Given the description of an element on the screen output the (x, y) to click on. 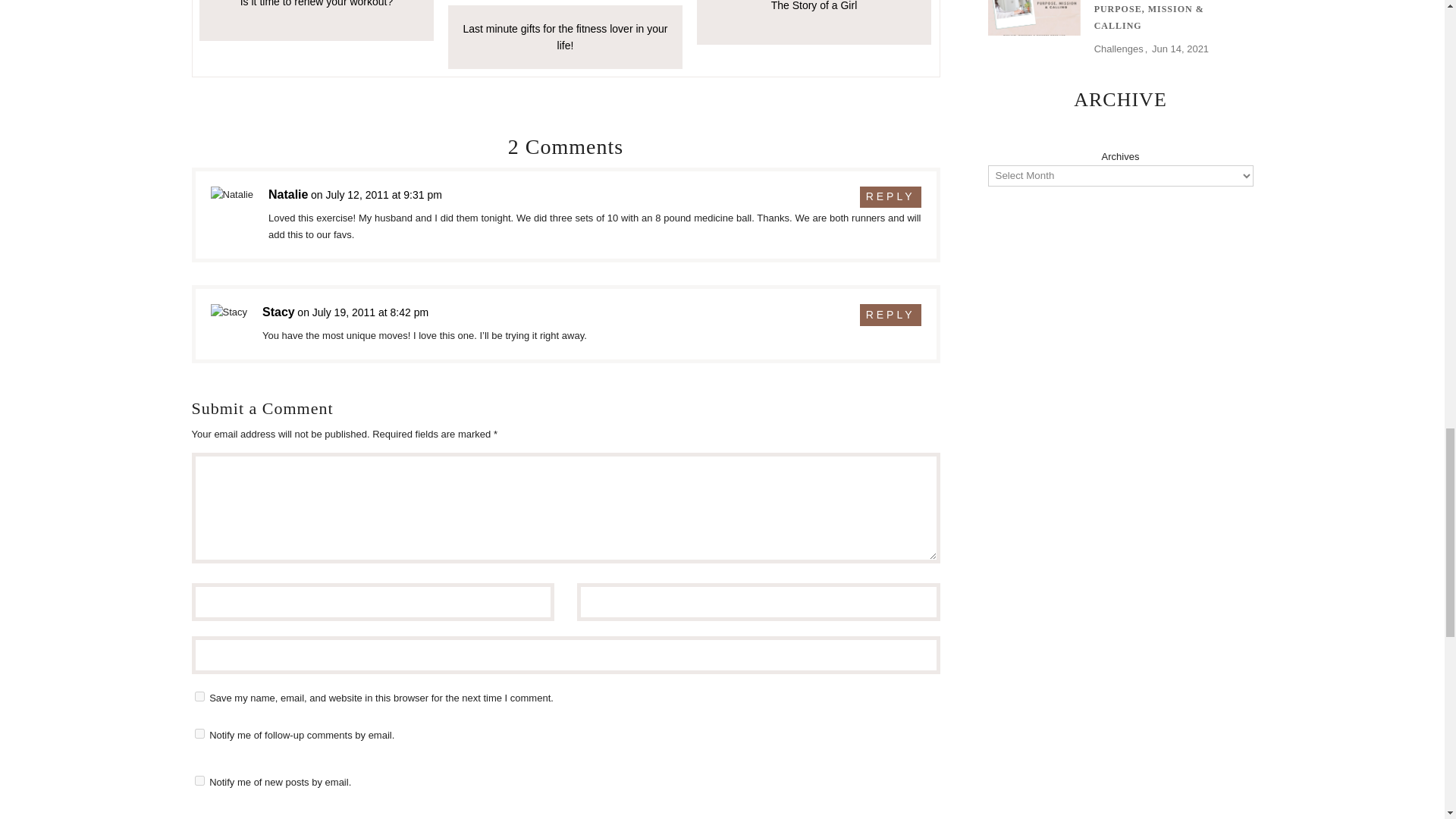
Last minute gifts for the fitness lover in your life! (564, 34)
yes (198, 696)
REPLY (890, 197)
Stacy (278, 312)
The Story of a Girl (813, 22)
REPLY (890, 314)
Is it time to renew your workout? (315, 20)
subscribe (198, 733)
subscribe (198, 780)
